Given the description of an element on the screen output the (x, y) to click on. 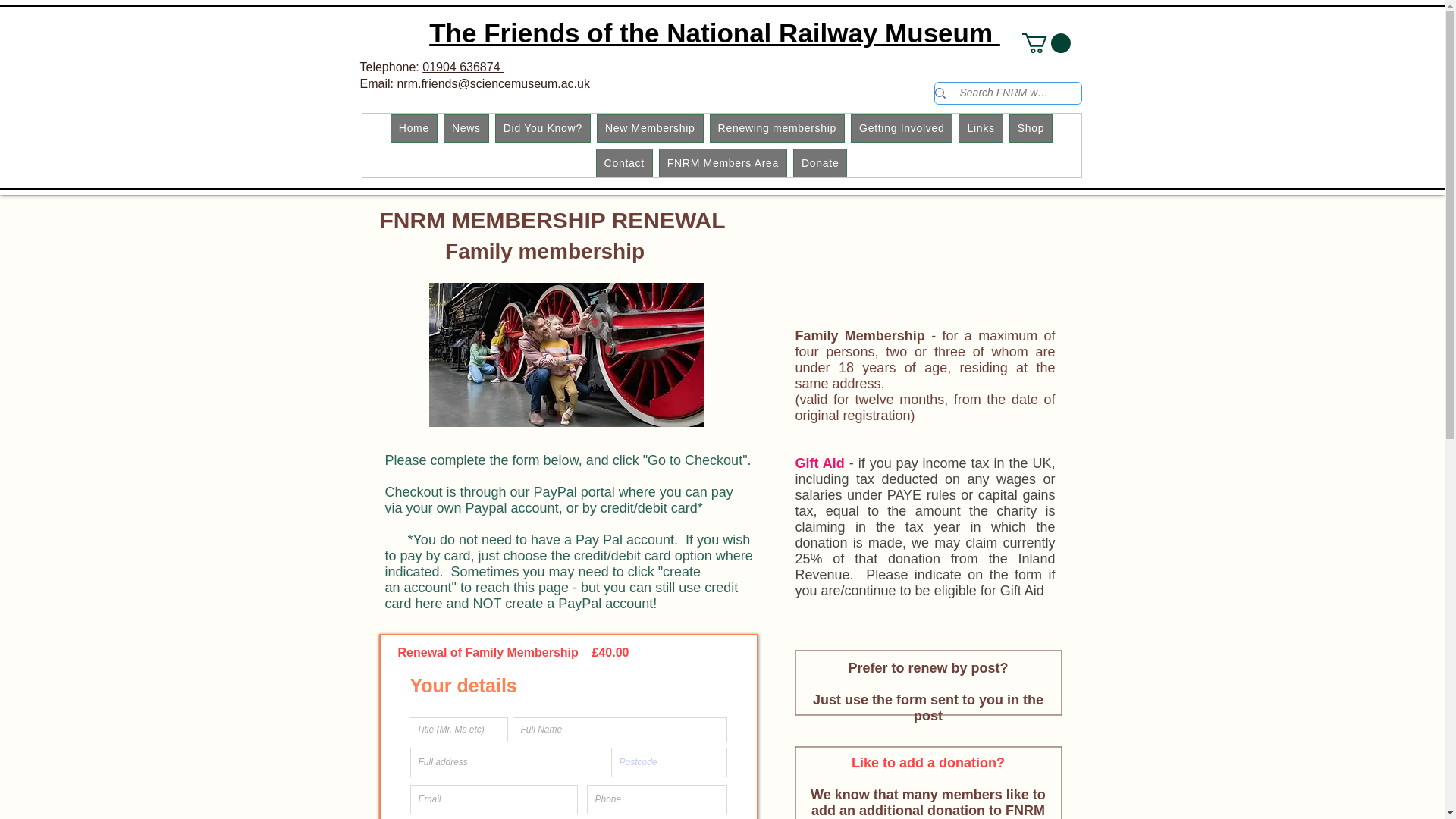
The Friends of the National Railway Museum  (714, 32)
Contact (623, 162)
Getting Involved (901, 127)
Links (980, 127)
Shop (1030, 127)
Did You Know? (543, 127)
New Membership (649, 127)
Donate (820, 162)
Renewing membership (777, 127)
01904 636874  (462, 66)
